Given the description of an element on the screen output the (x, y) to click on. 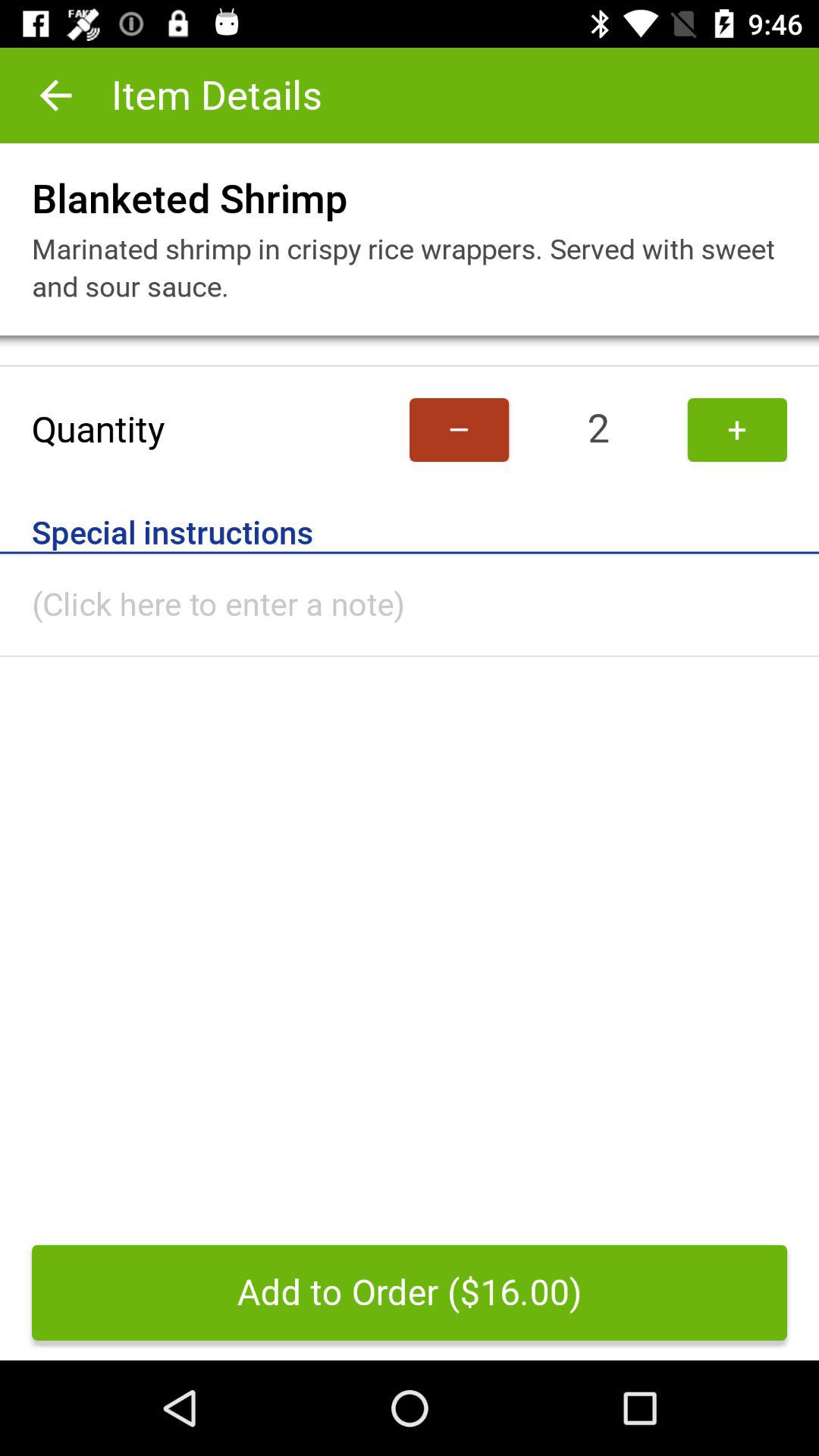
tap the add to order item (409, 1292)
